Given the description of an element on the screen output the (x, y) to click on. 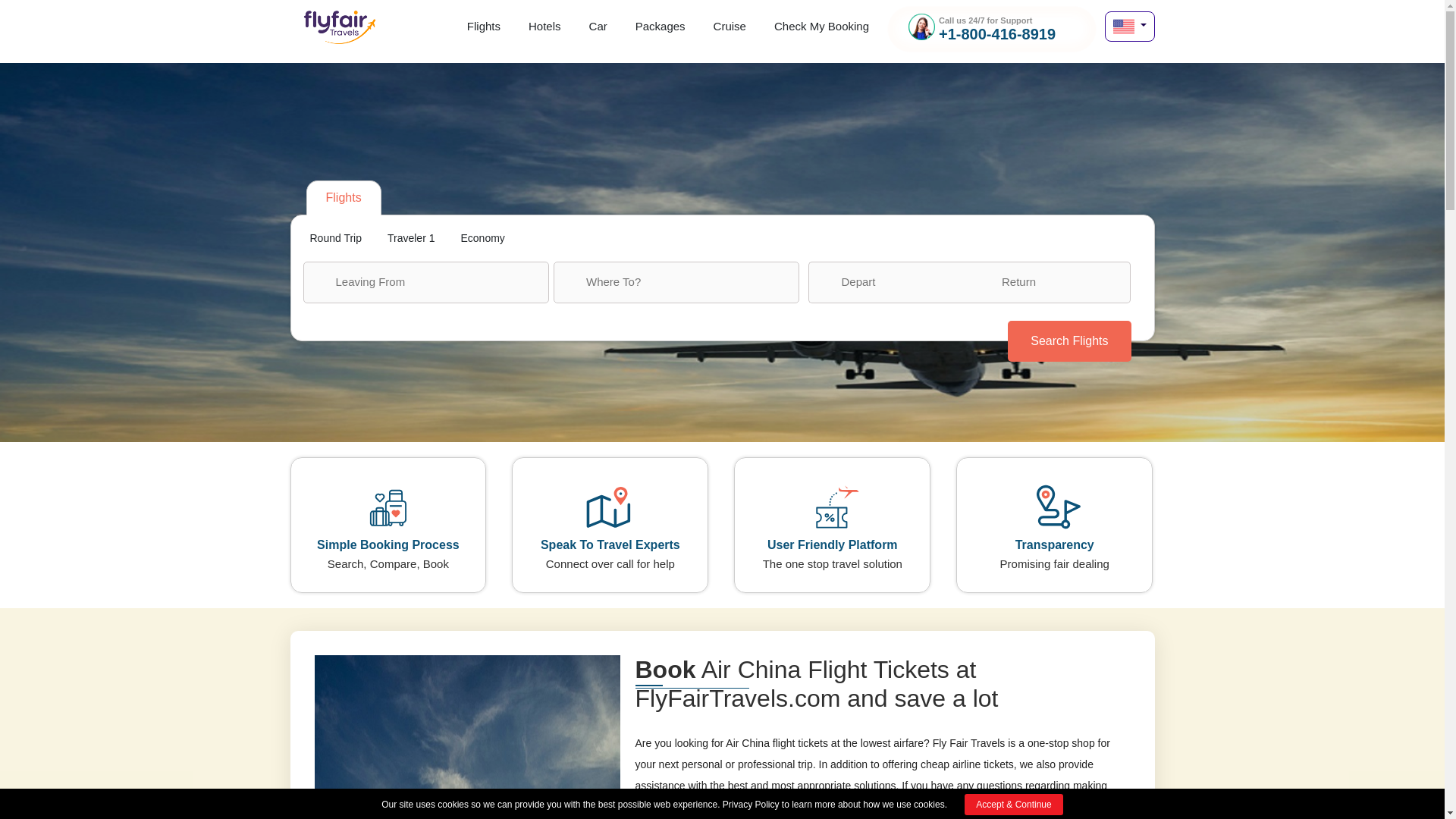
Check My Booking (821, 23)
Cruise (729, 23)
Packages (659, 23)
Flights (483, 23)
flyfairtravels (338, 32)
Hotels (544, 23)
Search Flights (1069, 340)
